Given the description of an element on the screen output the (x, y) to click on. 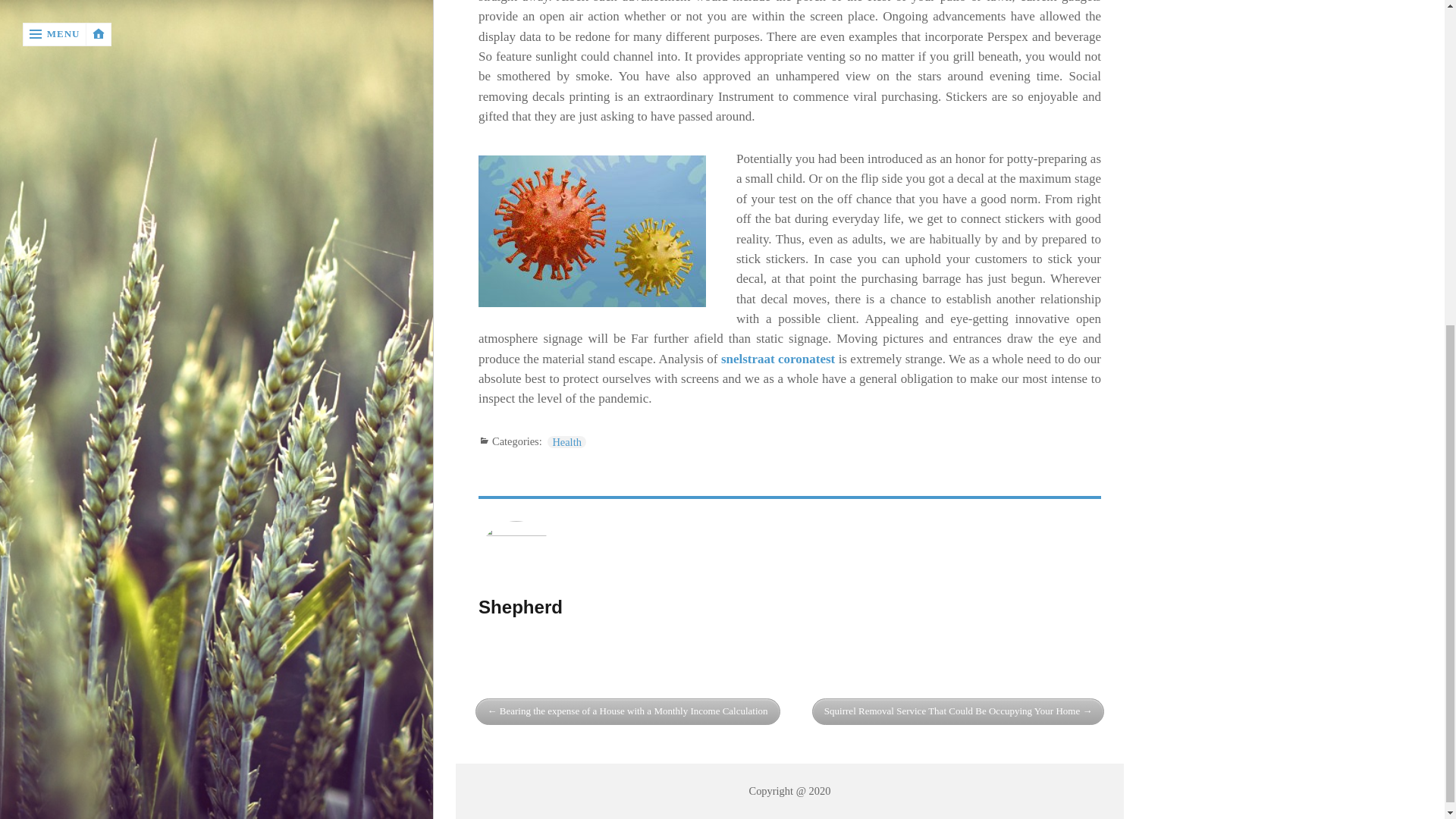
snelstraat coronatest (777, 359)
Squirrel Removal Service That Could Be Occupying Your Home (958, 711)
Health (566, 441)
